Given the description of an element on the screen output the (x, y) to click on. 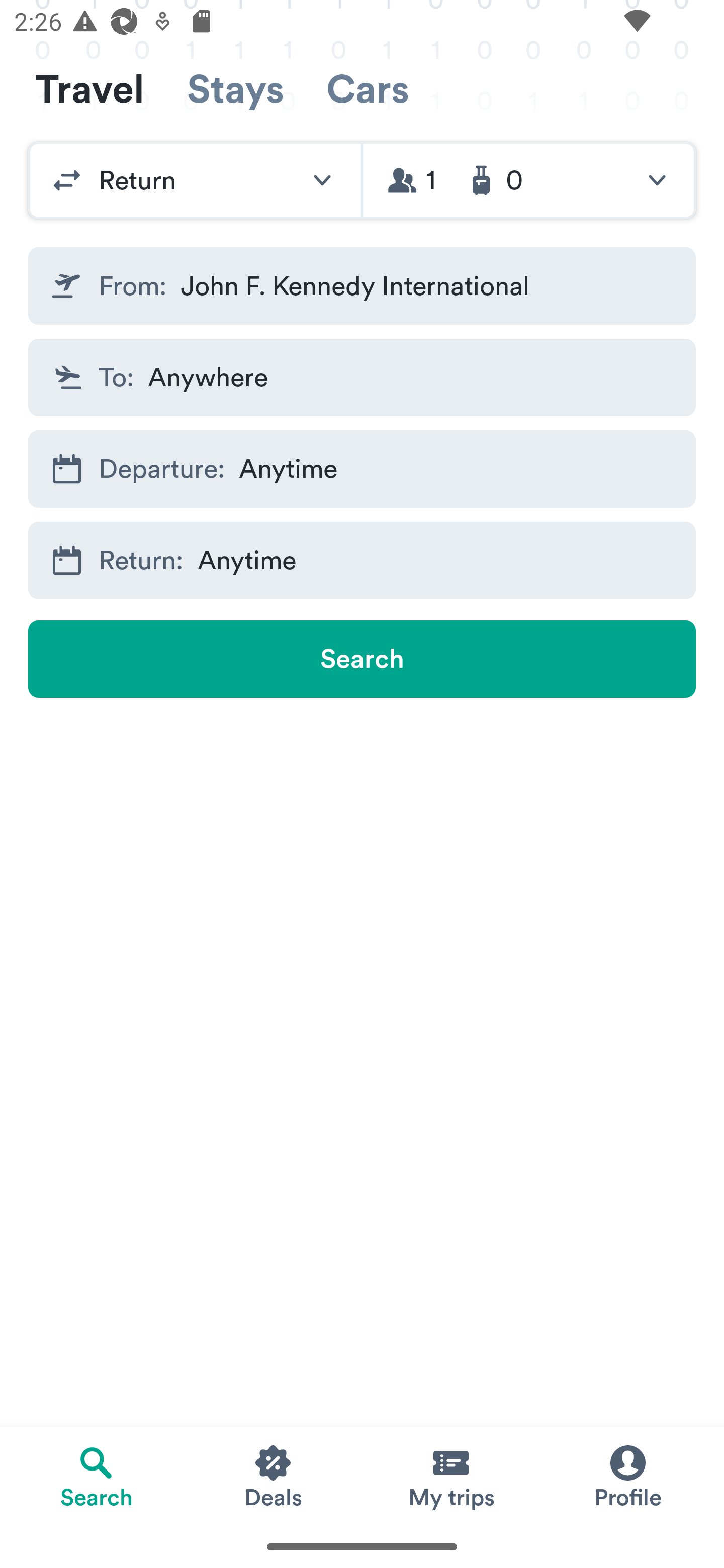
Travel (89, 89)
Stays (235, 89)
Cars (367, 89)
Return (194, 179)
Passengers 1 Bags 0 (528, 179)
From: John F. Kennedy International (361, 285)
To: Anywhere (361, 377)
Departure: Anytime (361, 468)
Return: Anytime (361, 559)
Search (361, 658)
Deals (273, 1475)
My trips (450, 1475)
Profile (627, 1475)
